Given the description of an element on the screen output the (x, y) to click on. 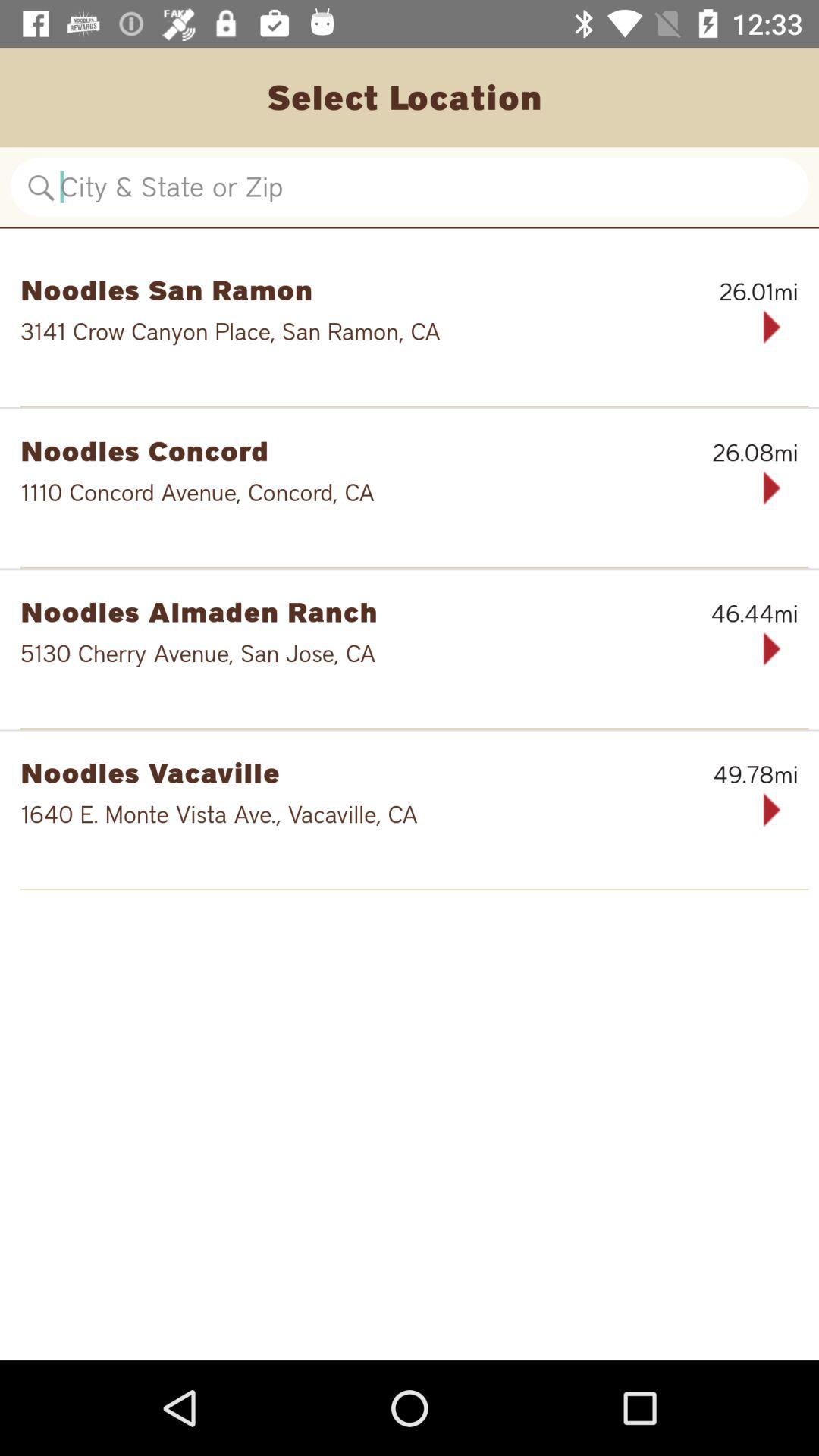
flip until 3141 crow canyon icon (361, 331)
